Given the description of an element on the screen output the (x, y) to click on. 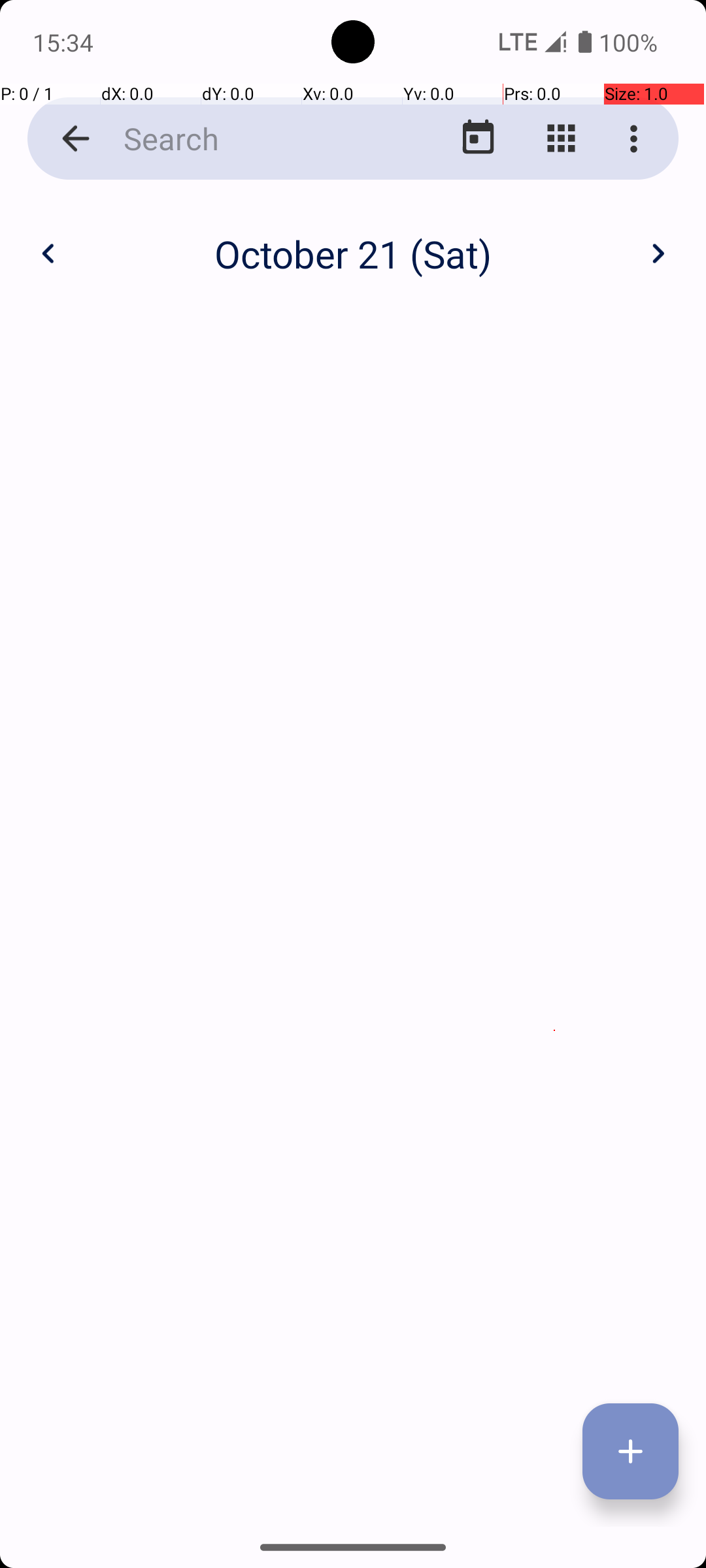
October 21 (Sat) Element type: android.widget.TextView (352, 253)
